Given the description of an element on the screen output the (x, y) to click on. 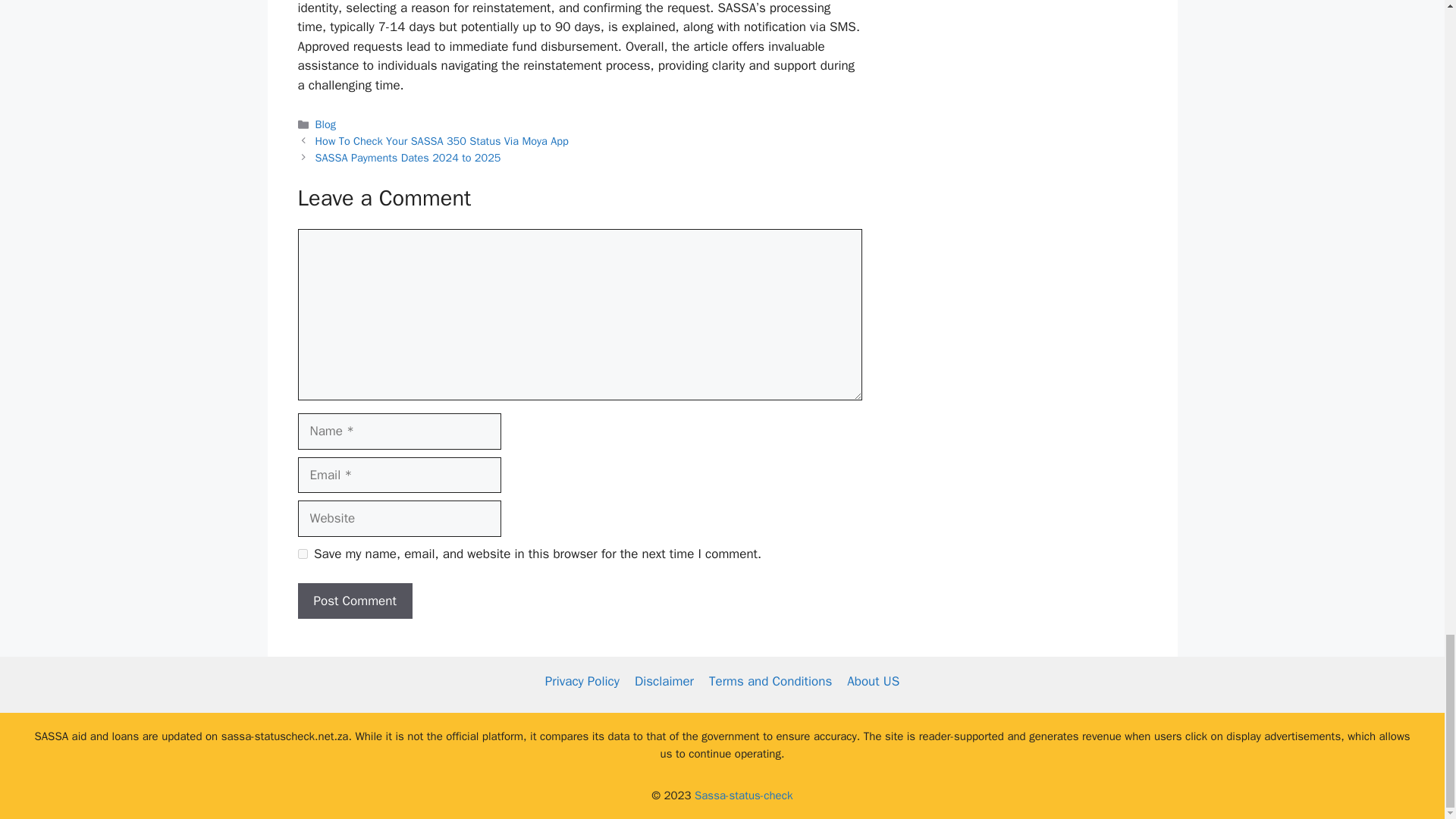
Post Comment (354, 601)
yes (302, 553)
Privacy Policy (582, 681)
Blog (325, 124)
How To Check Your SASSA 350 Status Via Moya App (442, 141)
Post Comment (354, 601)
SASSA Payments Dates 2024 to 2025 (407, 157)
